Given the description of an element on the screen output the (x, y) to click on. 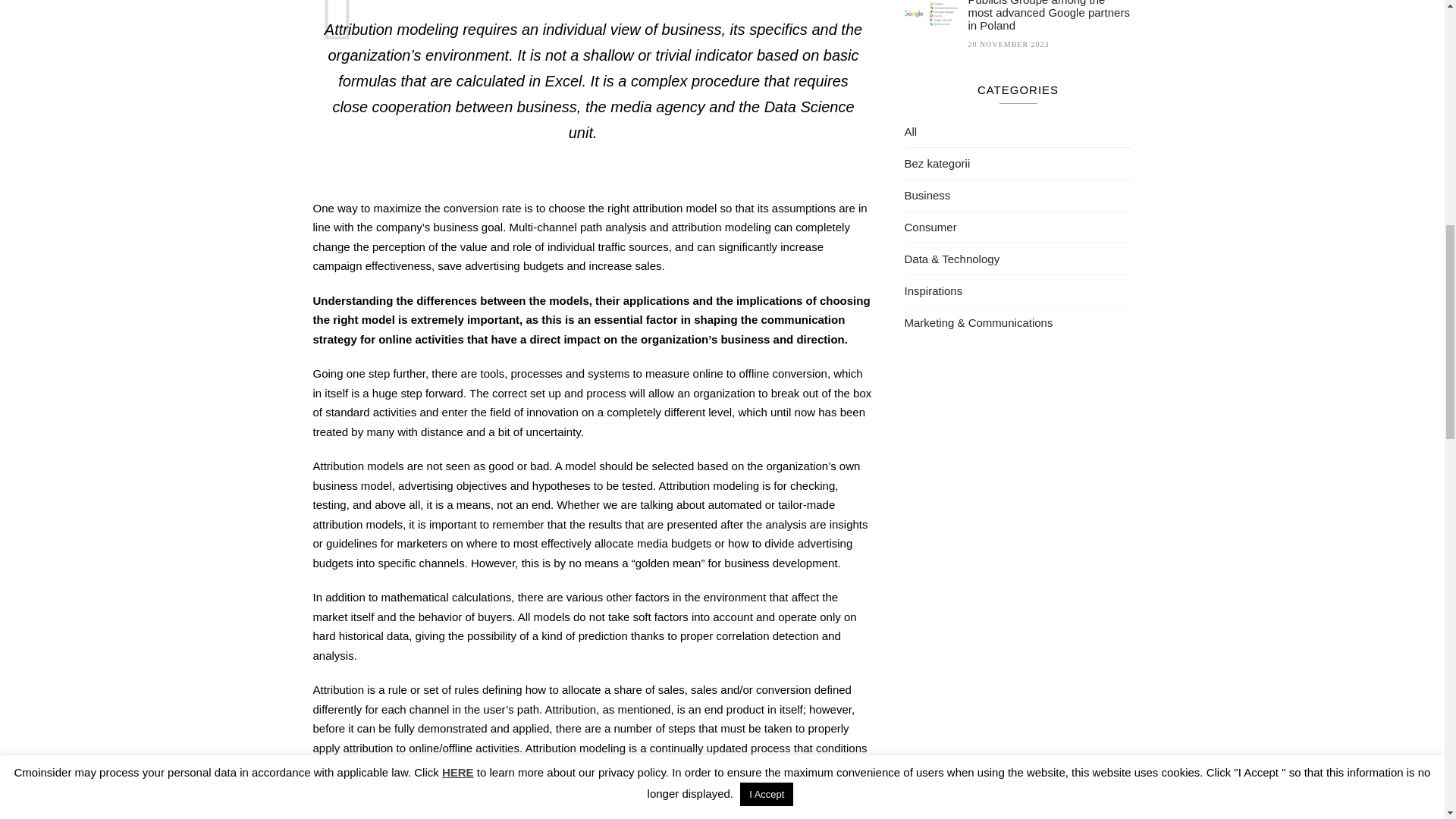
All (910, 131)
